Given the description of an element on the screen output the (x, y) to click on. 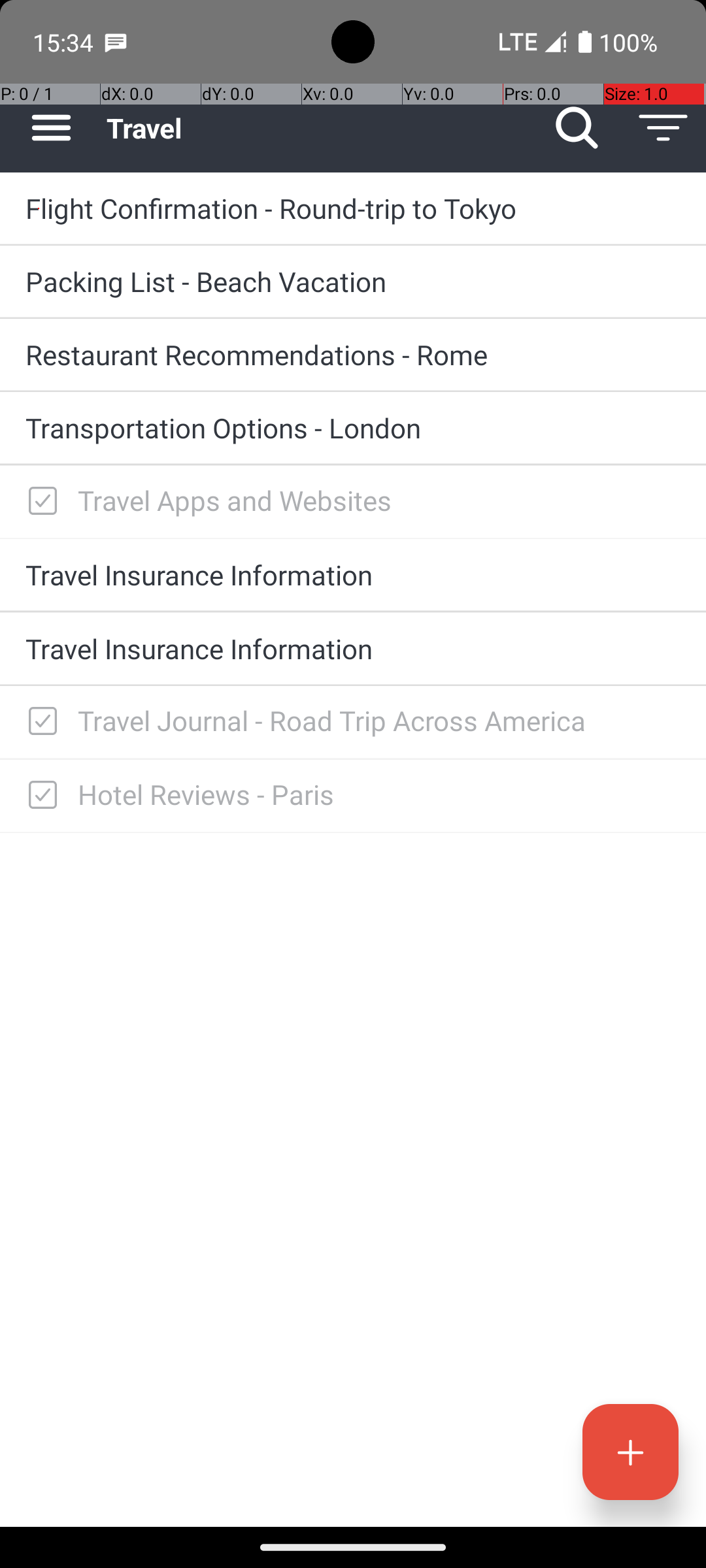
Travel Element type: android.widget.TextView (320, 127)
Flight Confirmation - Round-trip to Tokyo Element type: android.widget.TextView (352, 207)
Packing List - Beach Vacation Element type: android.widget.TextView (352, 280)
Transportation Options - London Element type: android.widget.TextView (352, 427)
to-do: Travel Apps and Websites Element type: android.widget.CheckBox (38, 501)
Travel Apps and Websites Element type: android.widget.TextView (378, 499)
Travel Insurance Information Element type: android.widget.TextView (352, 574)
to-do: Travel Journal - Road Trip Across America Element type: android.widget.CheckBox (38, 722)
Travel Journal - Road Trip Across America Element type: android.widget.TextView (378, 719)
to-do: Hotel Reviews - Paris Element type: android.widget.CheckBox (38, 795)
Hotel Reviews - Paris Element type: android.widget.TextView (378, 793)
